Given the description of an element on the screen output the (x, y) to click on. 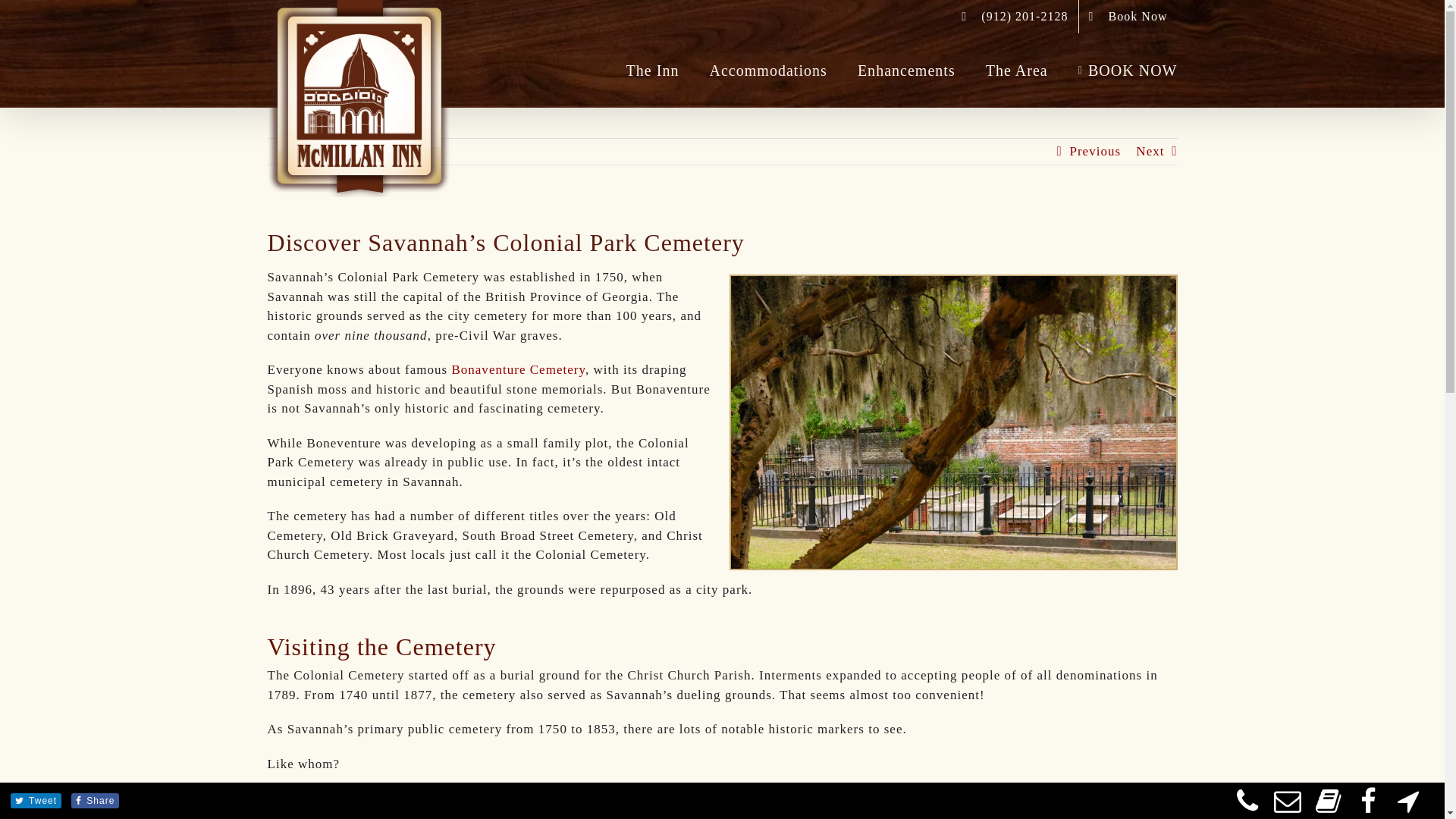
The Inn (652, 70)
Previous (1094, 151)
Next (1149, 151)
The Area (1016, 70)
BOOK NOW (1127, 70)
Enhancements (906, 70)
Bonaventure Cemetery (518, 369)
Book Now (1127, 16)
Accommodations (768, 70)
